Given the description of an element on the screen output the (x, y) to click on. 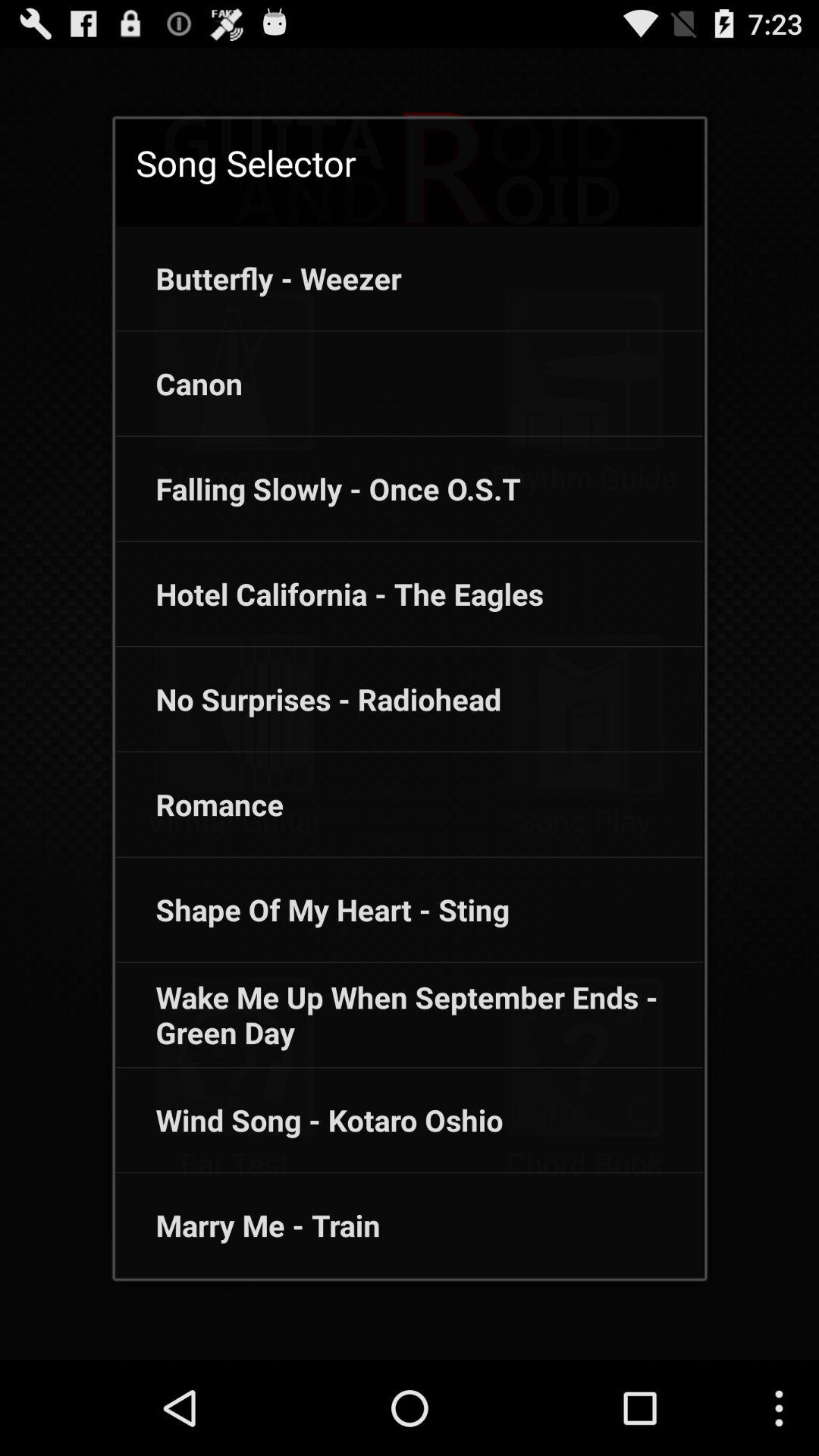
open the app above the marry me - train app (309, 1119)
